Given the description of an element on the screen output the (x, y) to click on. 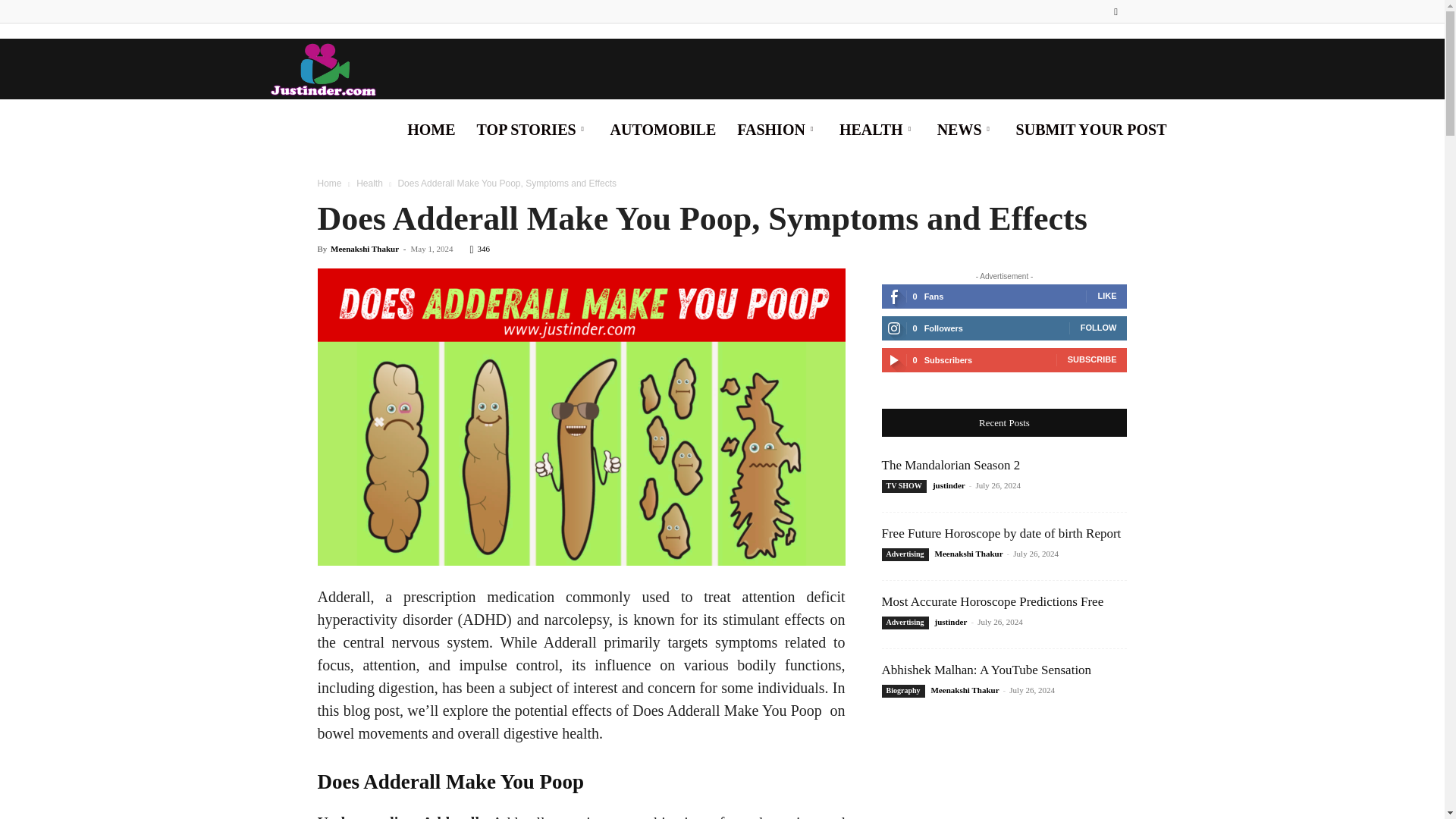
Search (1085, 65)
View all posts in Health (369, 183)
TOP STORIES (532, 129)
Justinder (320, 68)
AUTOMOBILE (662, 129)
HOME (430, 129)
